Given the description of an element on the screen output the (x, y) to click on. 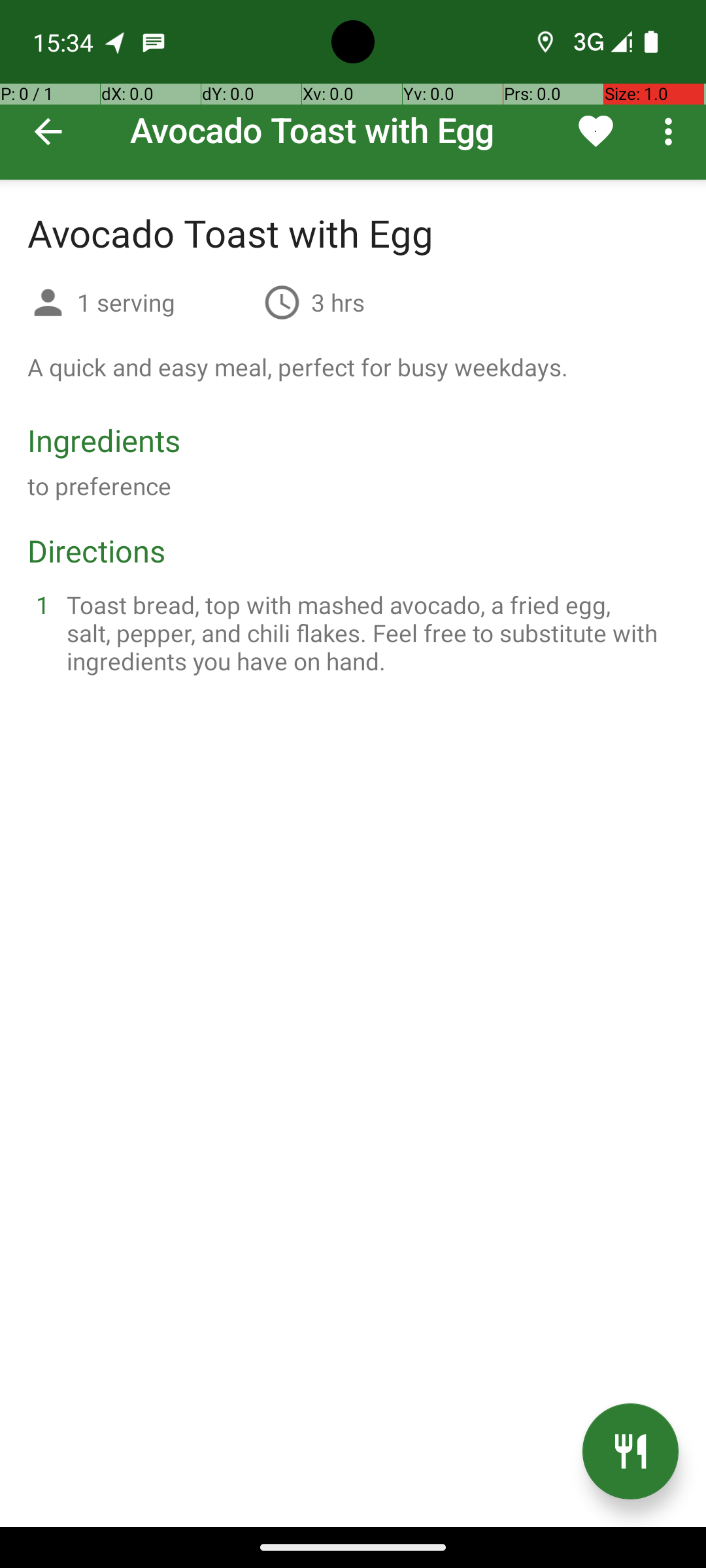
Avocado Toast with Egg Element type: android.widget.FrameLayout (353, 89)
Remove from favorites Element type: android.widget.Button (595, 131)
1 serving Element type: android.widget.TextView (164, 301)
3 hrs Element type: android.widget.TextView (337, 301)
to preference Element type: android.widget.TextView (99, 485)
Toast bread, top with mashed avocado, a fried egg, salt, pepper, and chili flakes. Feel free to substitute with ingredients you have on hand. Element type: android.widget.TextView (368, 632)
